Given the description of an element on the screen output the (x, y) to click on. 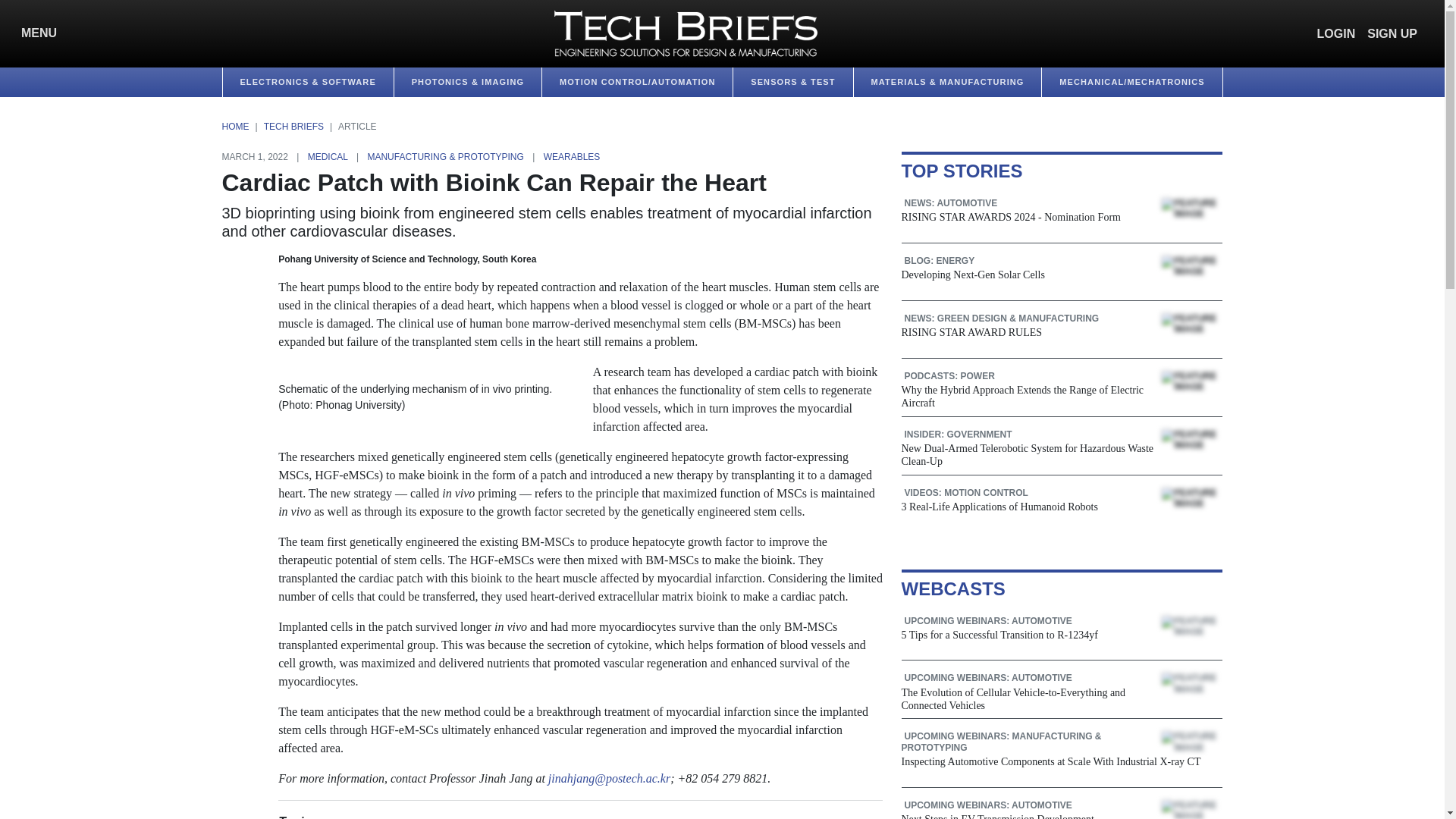
LOGIN (1336, 32)
SIGN UP (1392, 32)
MENU (35, 33)
